Given the description of an element on the screen output the (x, y) to click on. 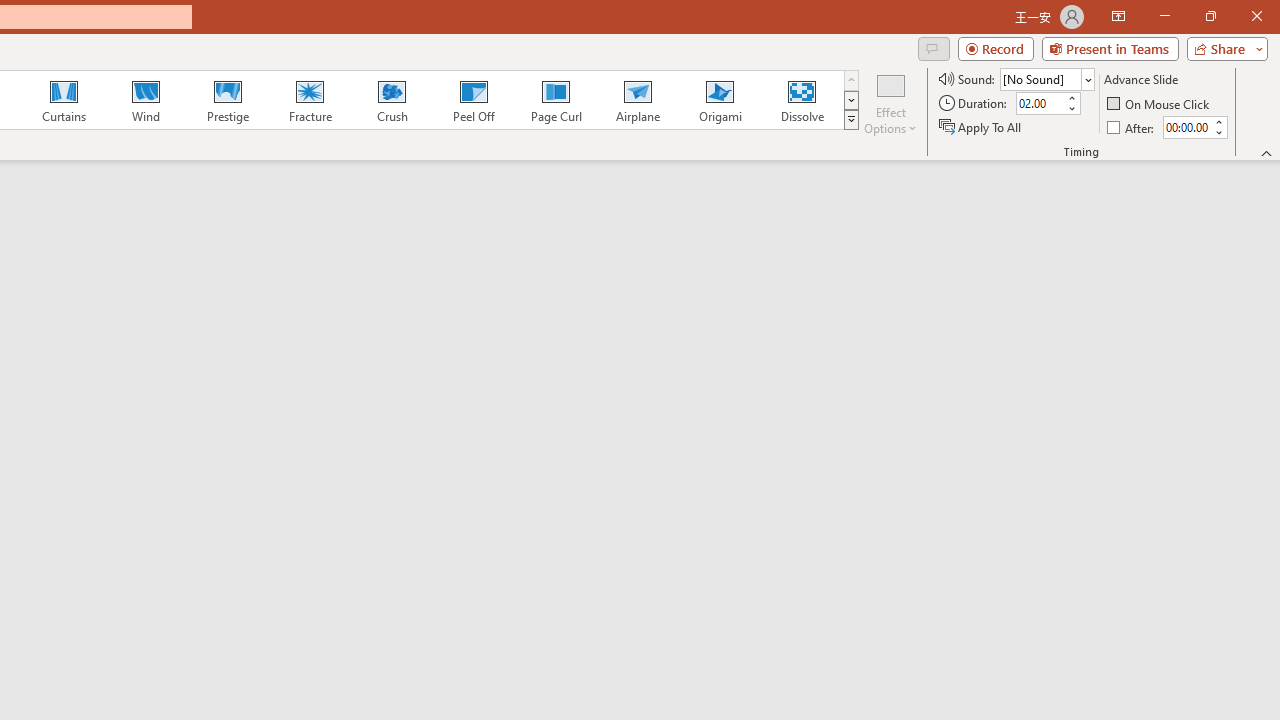
Prestige (227, 100)
Crush (391, 100)
Page Curl (555, 100)
Apply To All (981, 126)
Dissolve (802, 100)
Fracture (309, 100)
After (1186, 127)
Curtains (63, 100)
